Given the description of an element on the screen output the (x, y) to click on. 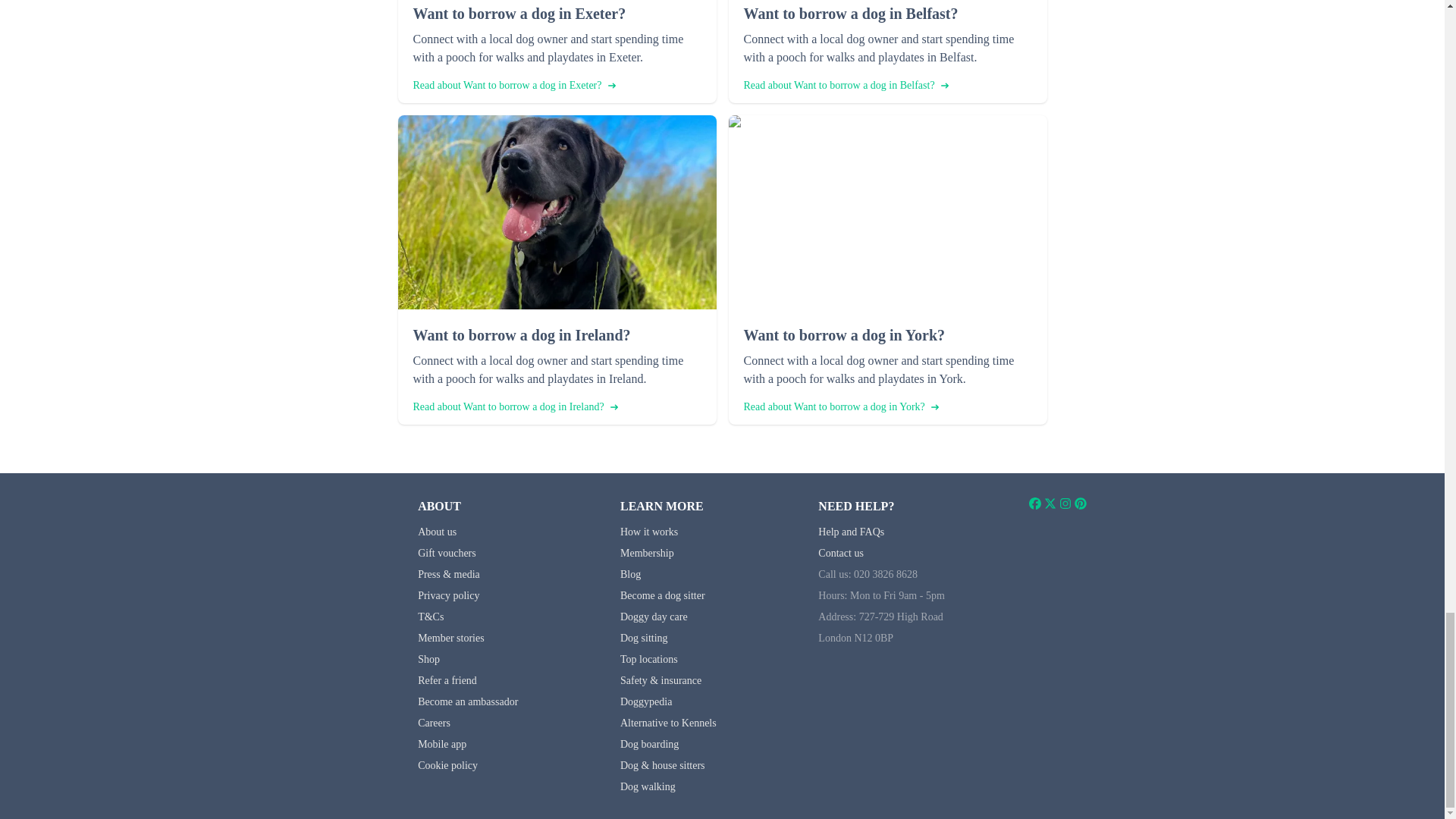
Privacy policy (448, 595)
Shop (428, 659)
Want to borrow a dog in York? (886, 334)
Read about Want to borrow a dog in Belfast? (844, 85)
Refer a friend (447, 680)
Want to borrow a dog in Belfast? (886, 13)
About us (437, 531)
Want to borrow a dog in Exeter? (556, 13)
Gift vouchers (446, 552)
Read about Want to borrow a dog in Ireland? (514, 406)
Read about Want to borrow a dog in York? (839, 406)
Read about Want to borrow a dog in Exeter? (513, 85)
Become an ambassador (467, 701)
Want to borrow a dog in Ireland? (556, 334)
Member stories (450, 637)
